Given the description of an element on the screen output the (x, y) to click on. 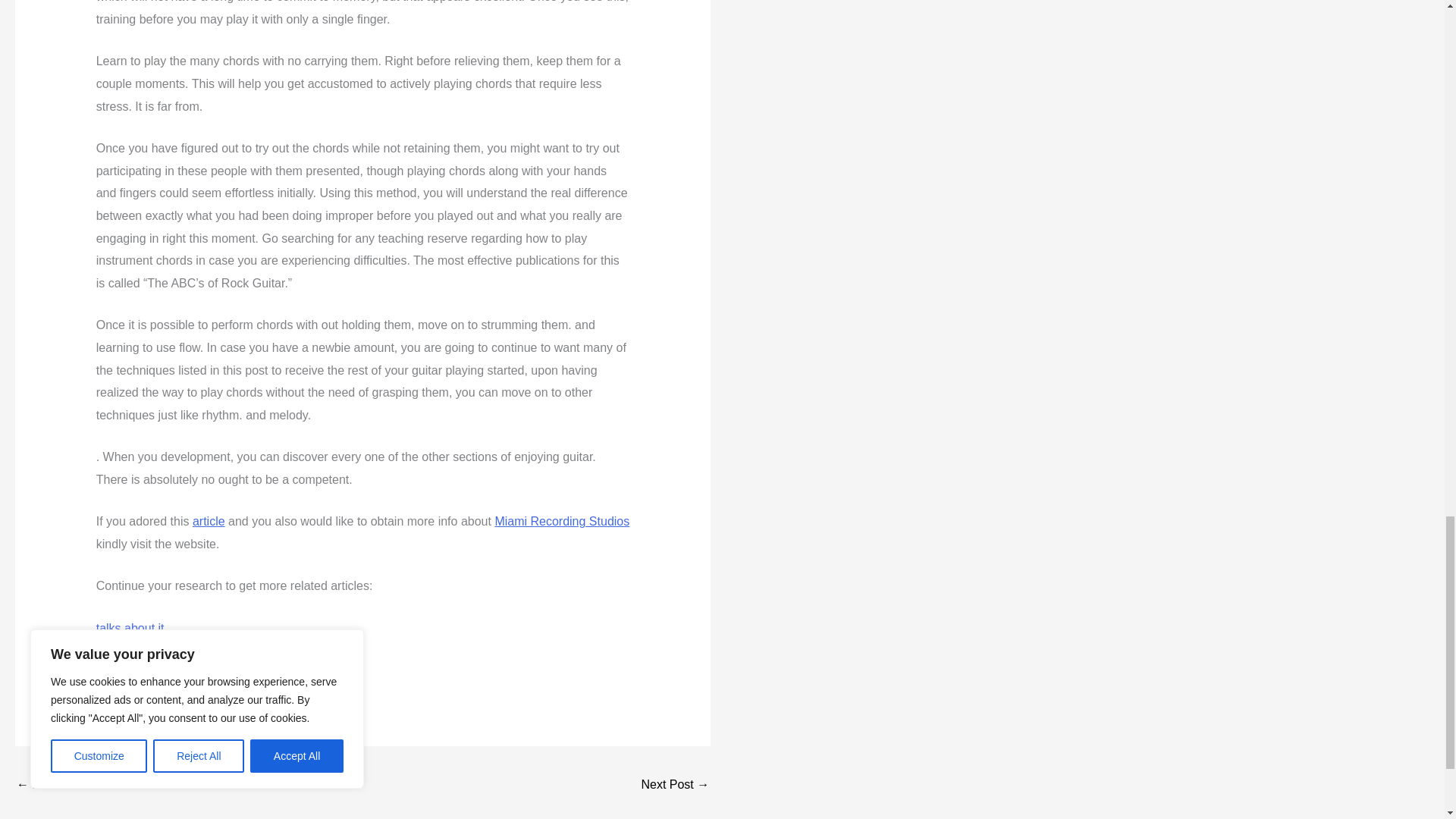
Miami Recording Studios (561, 521)
article (208, 521)
Cleaning STRATEGIES FOR Oily Hair (674, 786)
talks about it (130, 627)
click through the up coming article (187, 669)
